Given the description of an element on the screen output the (x, y) to click on. 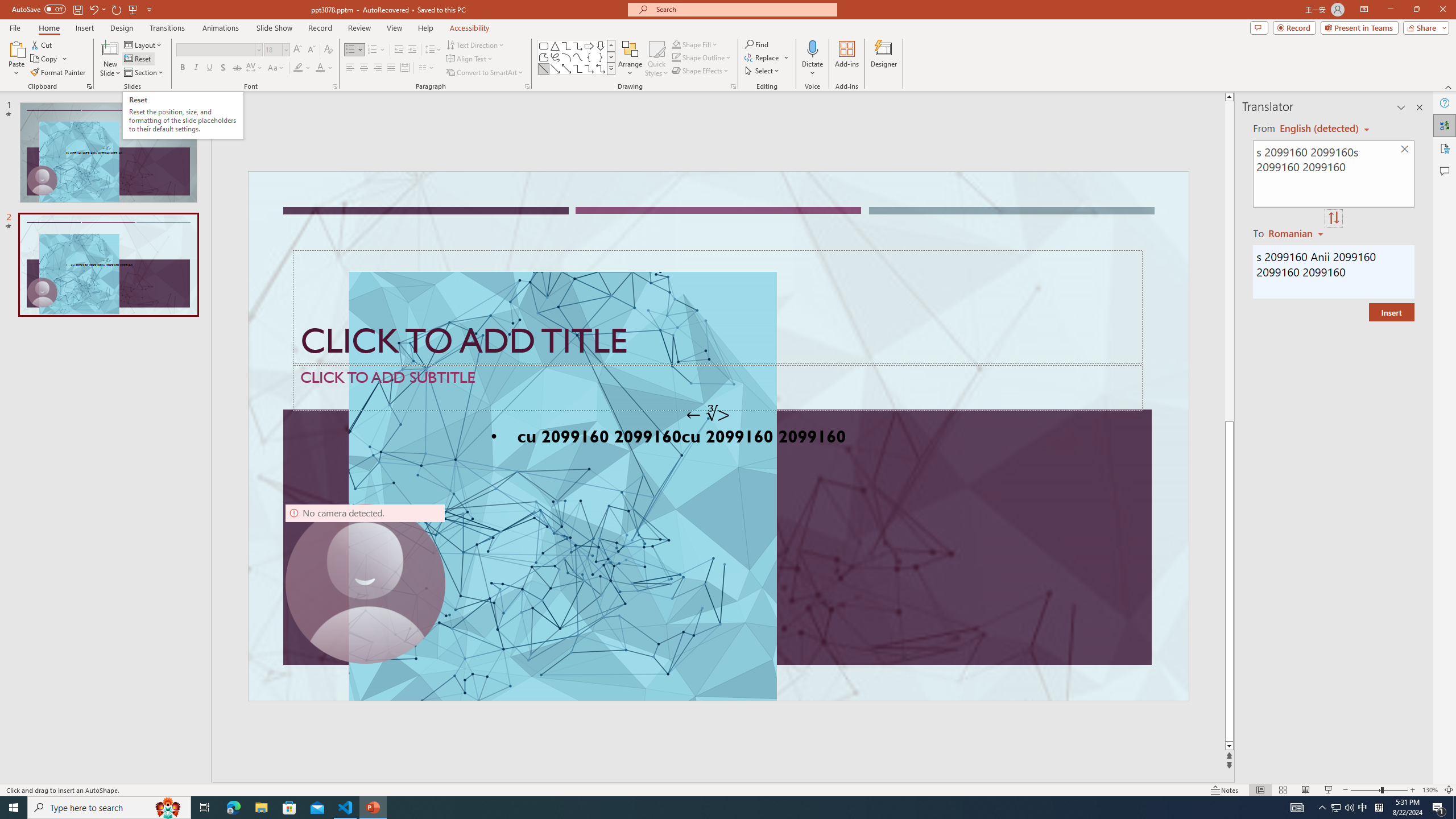
Microsoft Cashback - US$0.00 (1320, 122)
Tab actions (675, 183)
